Given the description of an element on the screen output the (x, y) to click on. 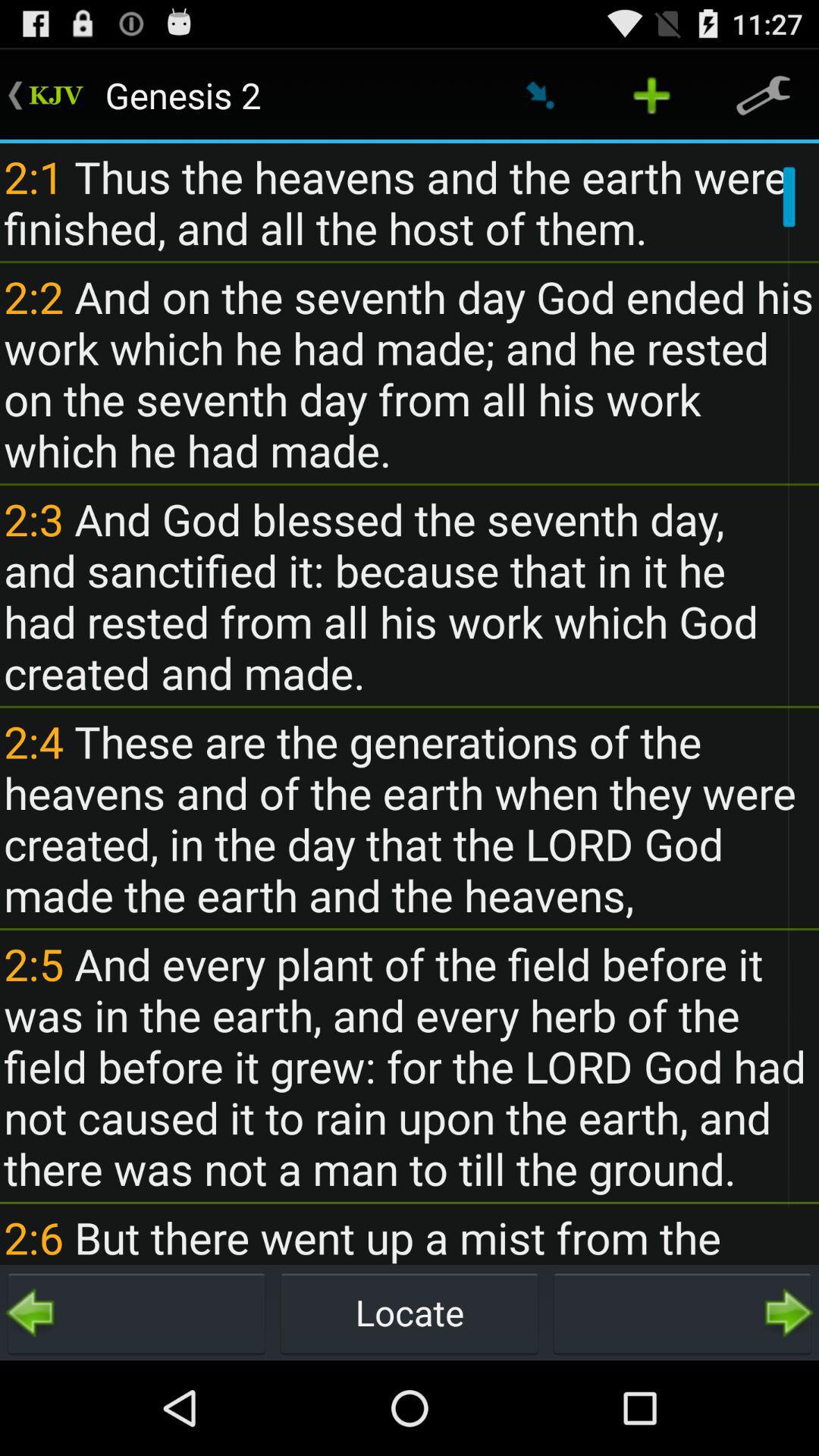
go back (136, 1312)
